Given the description of an element on the screen output the (x, y) to click on. 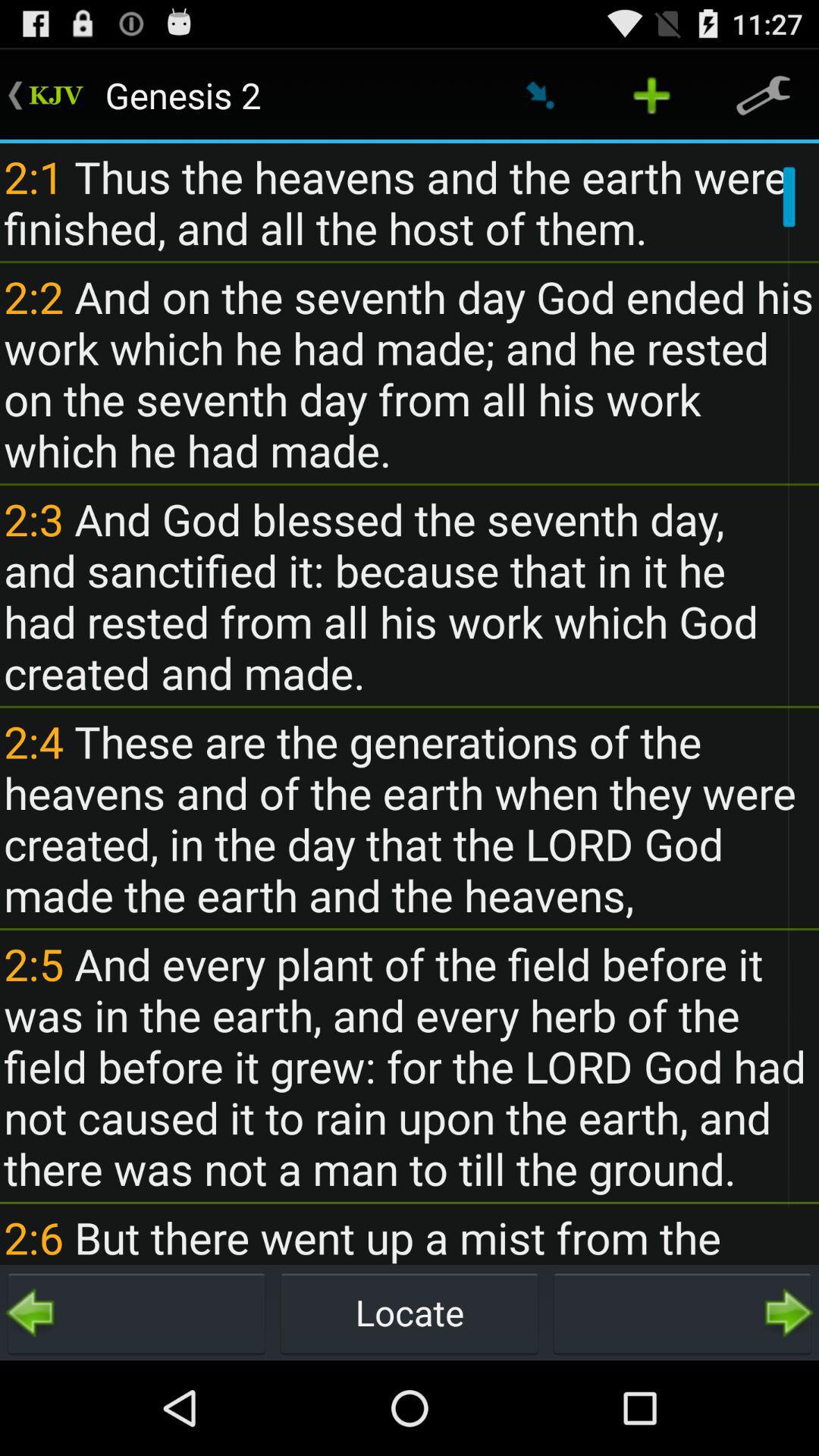
go back (136, 1312)
